Given the description of an element on the screen output the (x, y) to click on. 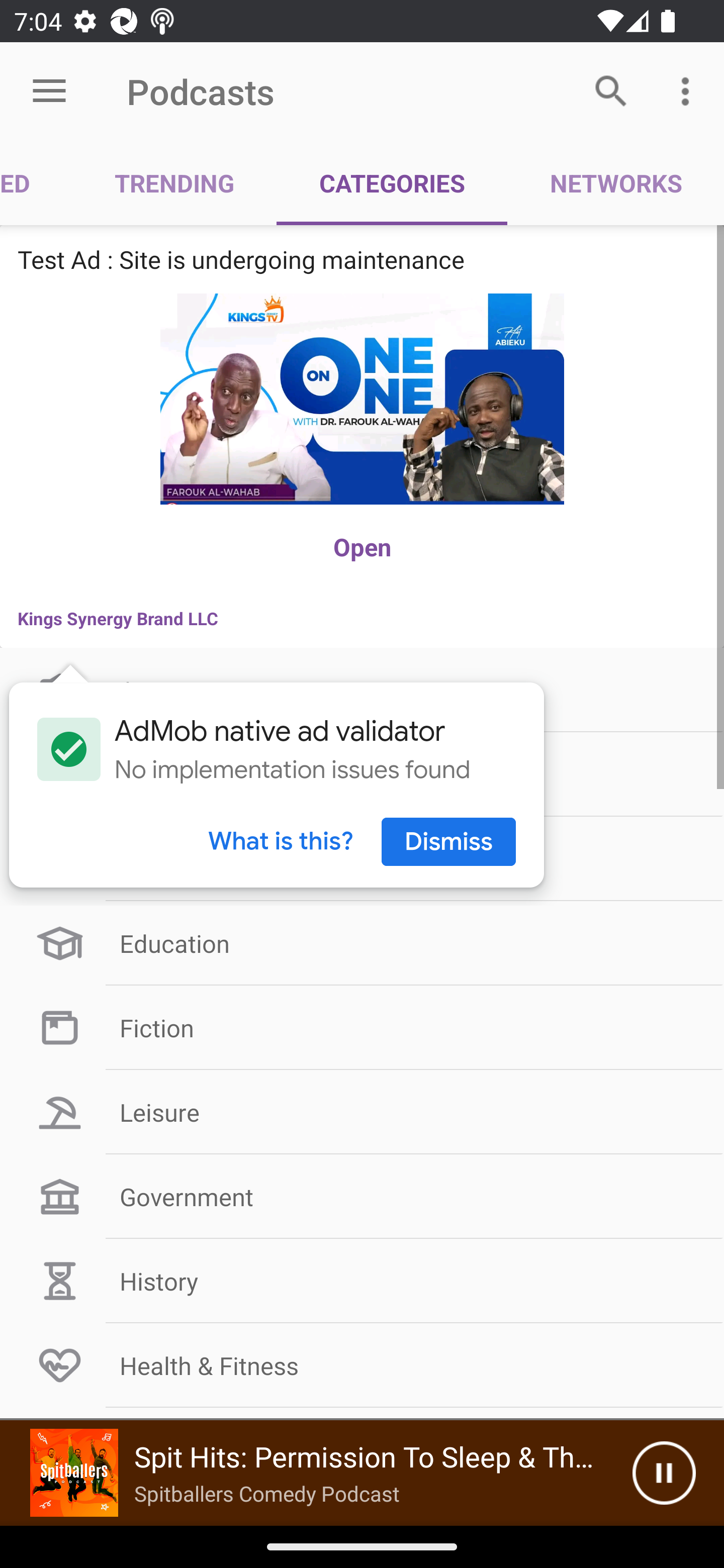
Open menu (49, 91)
Search (611, 90)
More options (688, 90)
TRENDING (174, 183)
CATEGORIES (391, 183)
NETWORKS (615, 183)
Test Ad : Site is undergoing maintenance (361, 259)
Open (362, 546)
Kings Synergy Brand LLC (361, 618)
Education (362, 943)
Fiction (362, 1027)
Leisure (362, 1111)
Government (362, 1196)
History (362, 1280)
Health & Fitness (362, 1365)
Pause (663, 1472)
